Given the description of an element on the screen output the (x, y) to click on. 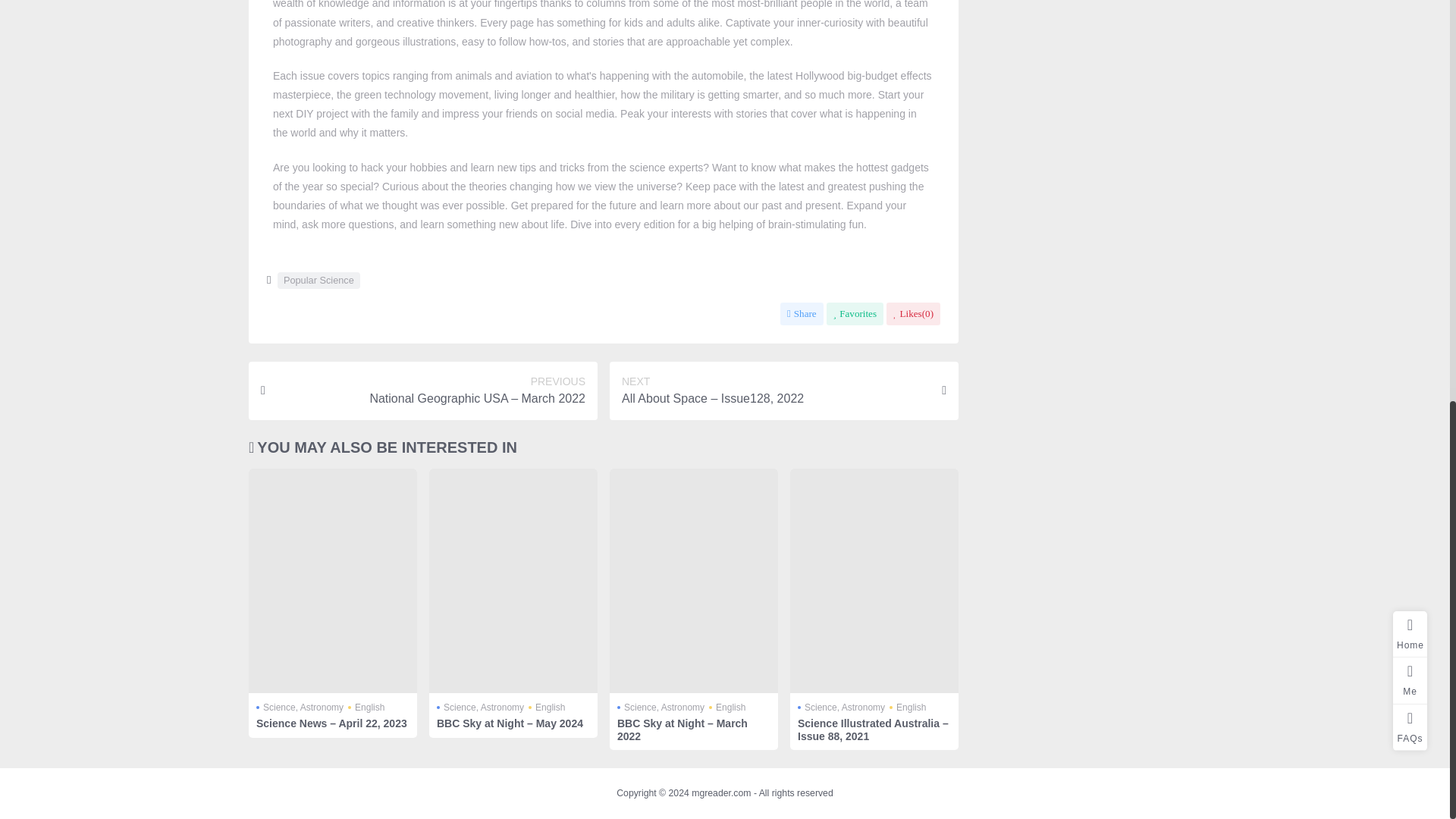
Share (802, 313)
Favorites (855, 313)
mgreader.com (721, 792)
English (546, 707)
Popular Science (318, 280)
English (727, 707)
English (907, 707)
Science, Astronomy (480, 707)
English (365, 707)
Science, Astronomy (299, 707)
Science, Astronomy (841, 707)
Science, Astronomy (660, 707)
